Given the description of an element on the screen output the (x, y) to click on. 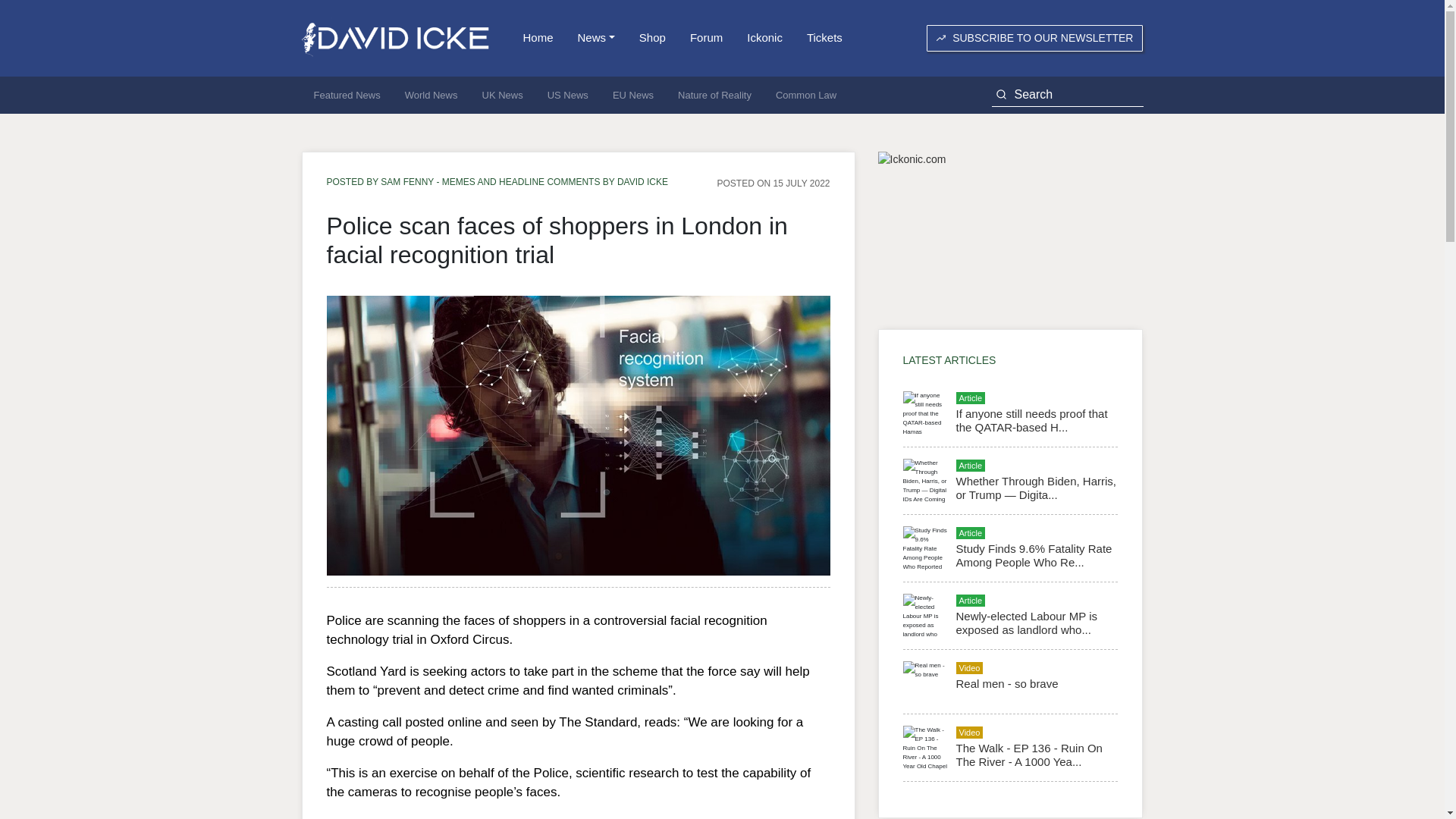
News (596, 37)
UK News (502, 94)
Forum (706, 37)
POSTED ON 15 JULY 2022 (773, 182)
Real men - so brave (1006, 683)
World News (431, 94)
Ickonic (764, 37)
